Given the description of an element on the screen output the (x, y) to click on. 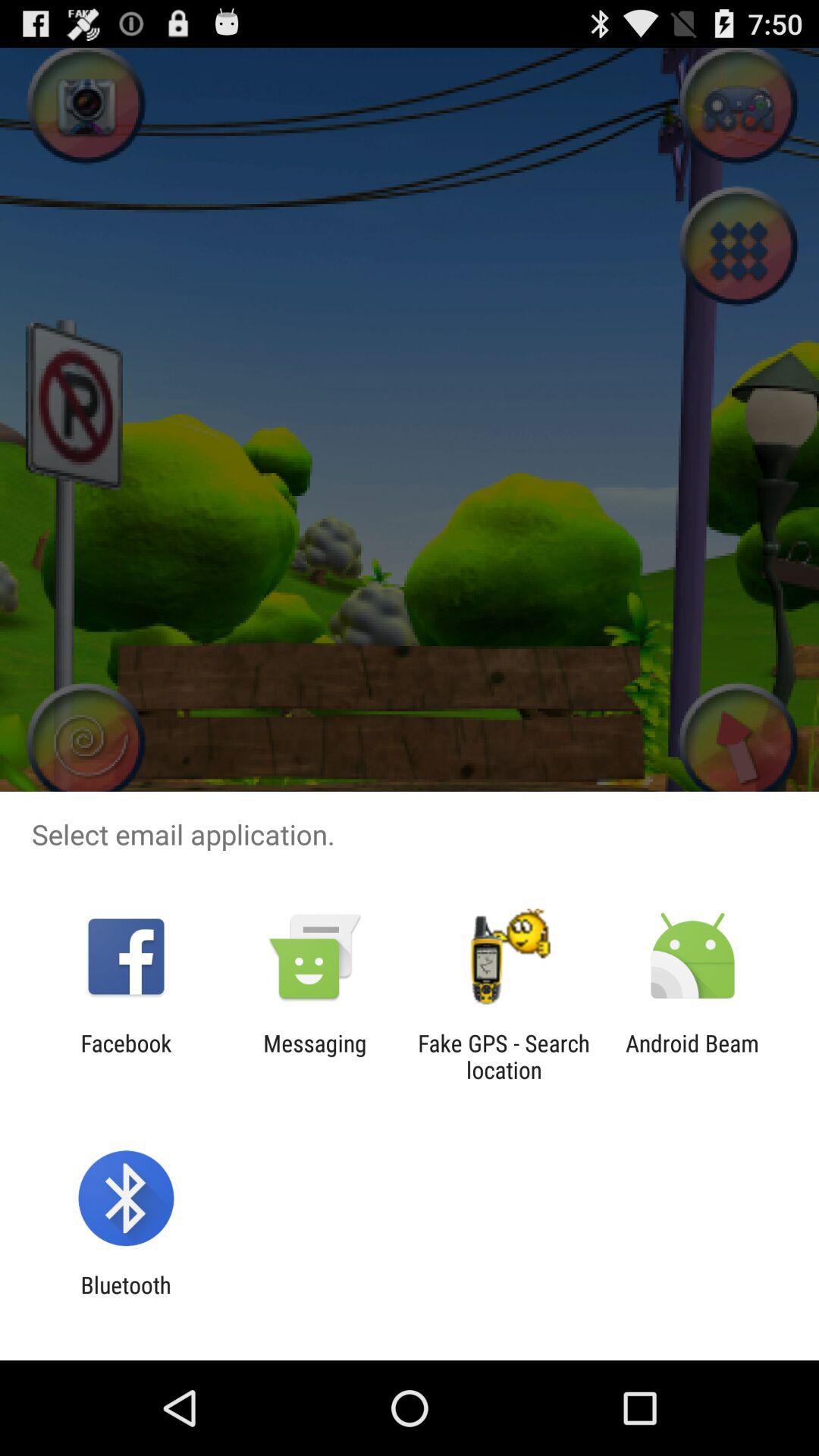
turn off the messaging app (314, 1056)
